Given the description of an element on the screen output the (x, y) to click on. 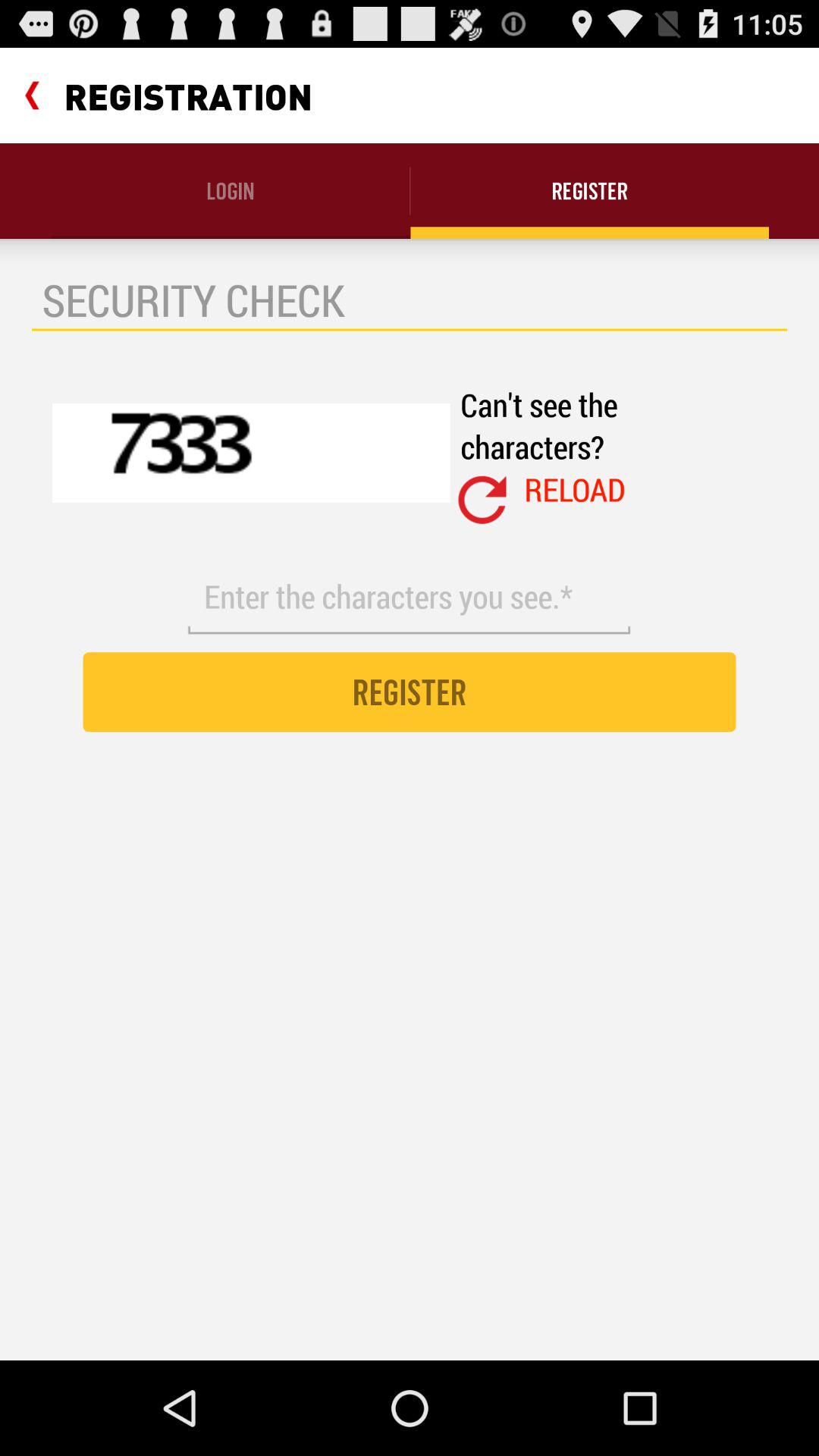
swipe until the reload (574, 489)
